Given the description of an element on the screen output the (x, y) to click on. 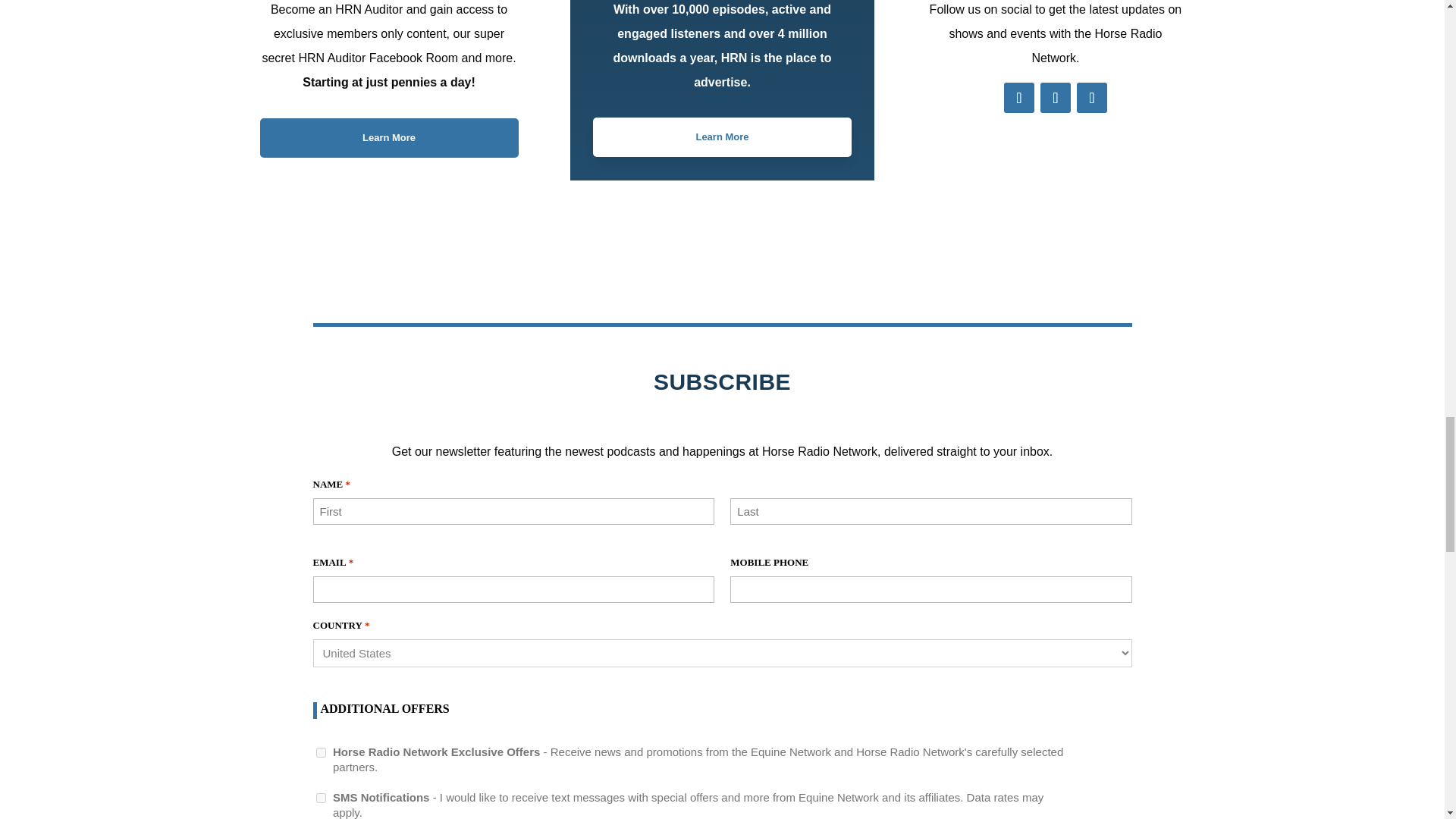
Follow on Instagram (1091, 97)
Follow on X (1055, 97)
Follow on Facebook (1018, 97)
SMS Notifications (319, 798)
93fb1963-89c1-40c7-b967-062a60801eb8 (319, 752)
